Given the description of an element on the screen output the (x, y) to click on. 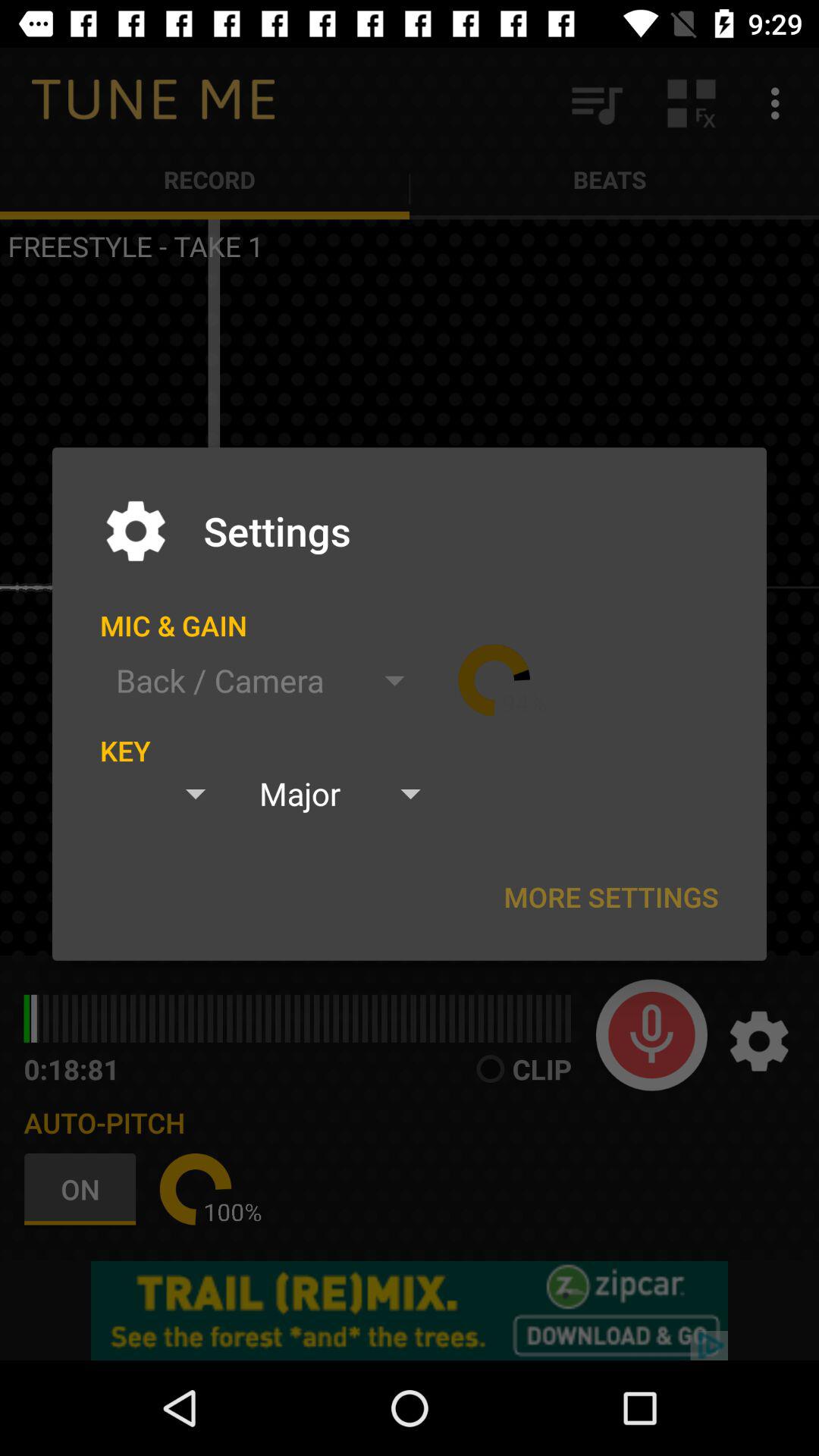
tap item above the beats app (595, 103)
